Given the description of an element on the screen output the (x, y) to click on. 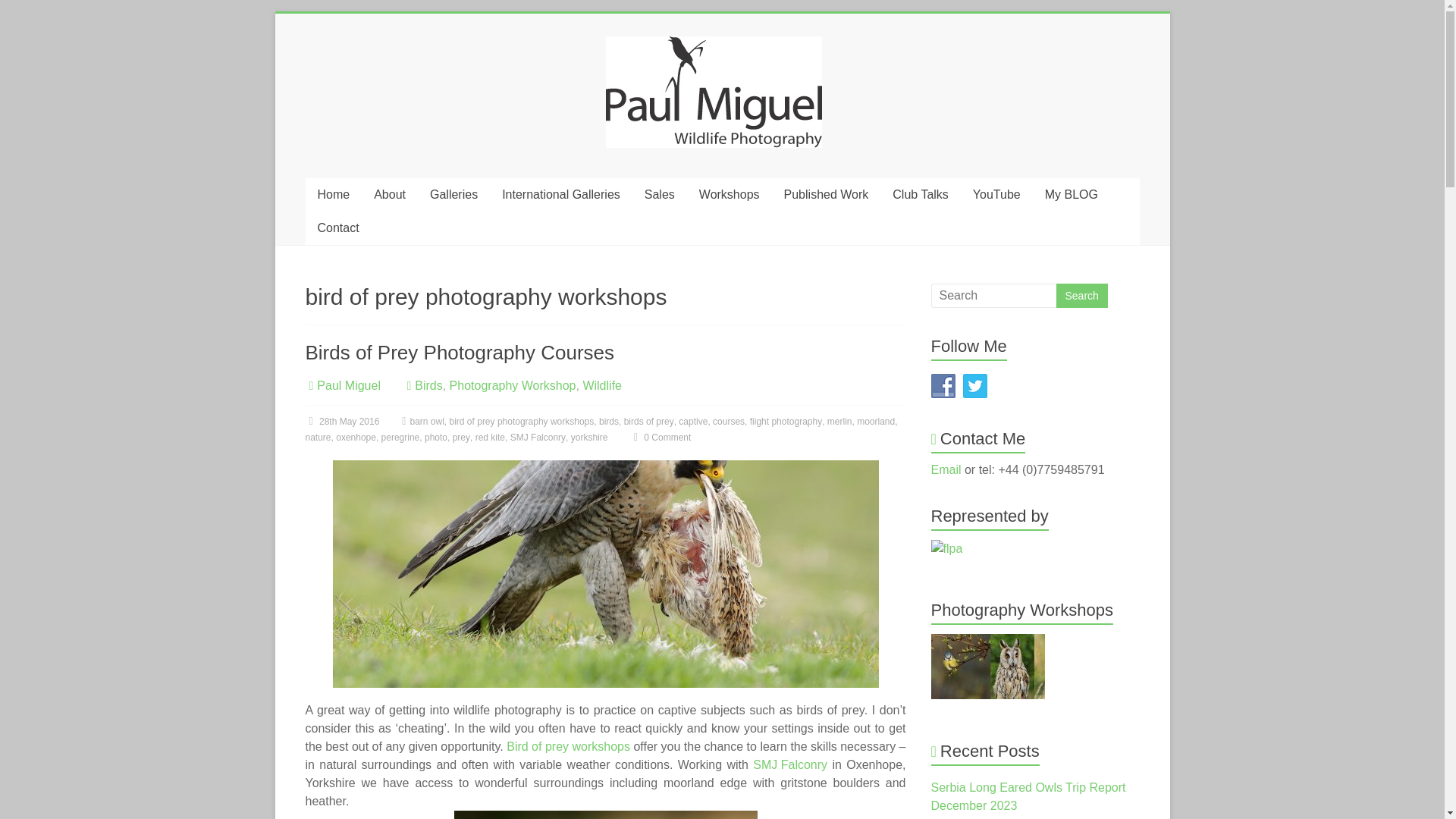
birds of prey (649, 421)
Search (1080, 295)
Birds (428, 385)
Follow Us on Facebook (943, 385)
photo (435, 437)
11:35 am (341, 421)
My BLOG (1070, 194)
Contact (337, 227)
Paul Miguel (348, 385)
prey (461, 437)
courses (728, 421)
28th May 2016 (341, 421)
Birds of Prey Photography Courses (459, 352)
peregrine (400, 437)
International Galleries (560, 194)
